Given the description of an element on the screen output the (x, y) to click on. 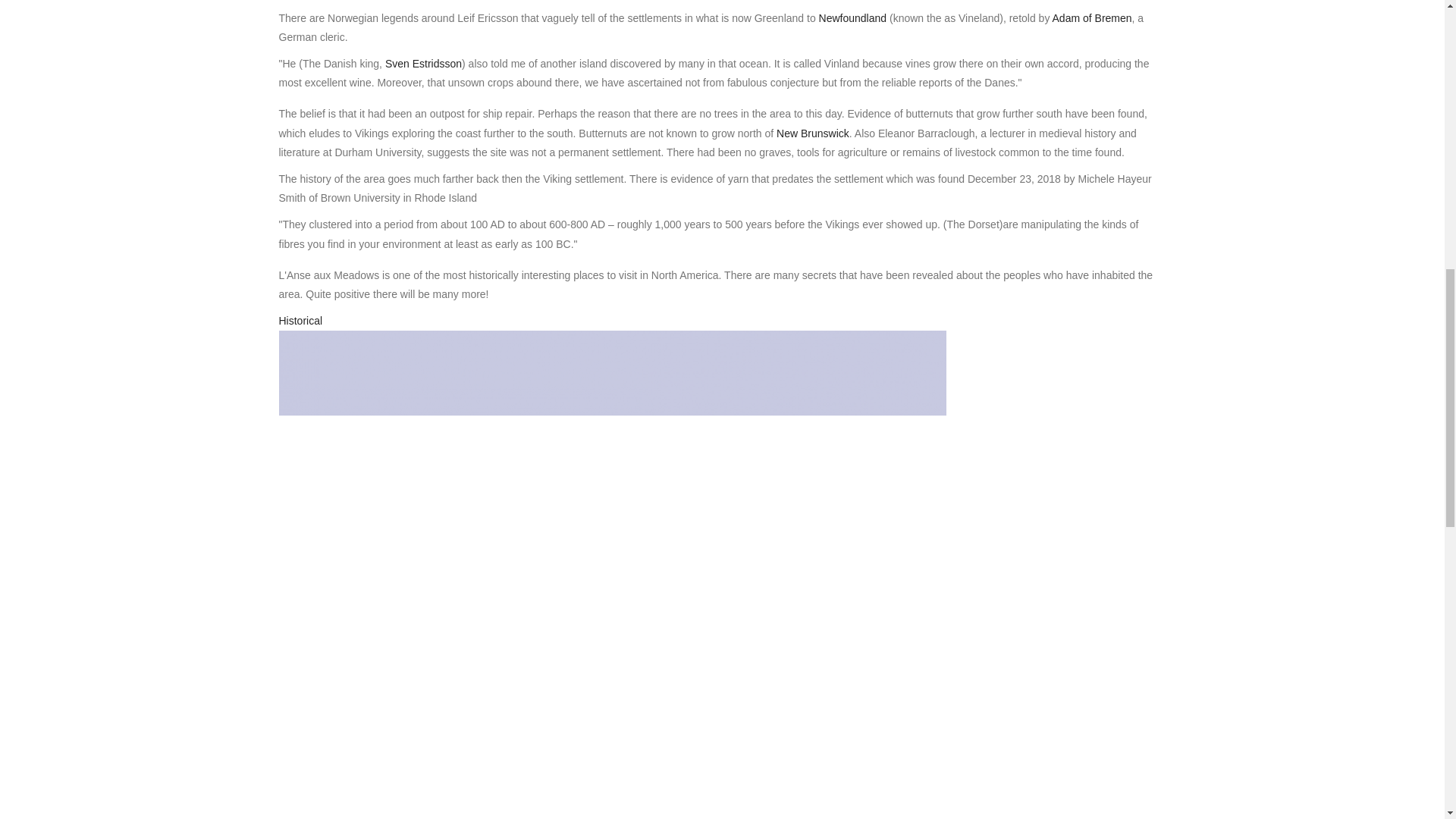
Newfoundland (852, 18)
Adam of Bremen (1092, 18)
Sven Estridsson (423, 63)
New Brunswick (812, 133)
Historical (301, 320)
